Given the description of an element on the screen output the (x, y) to click on. 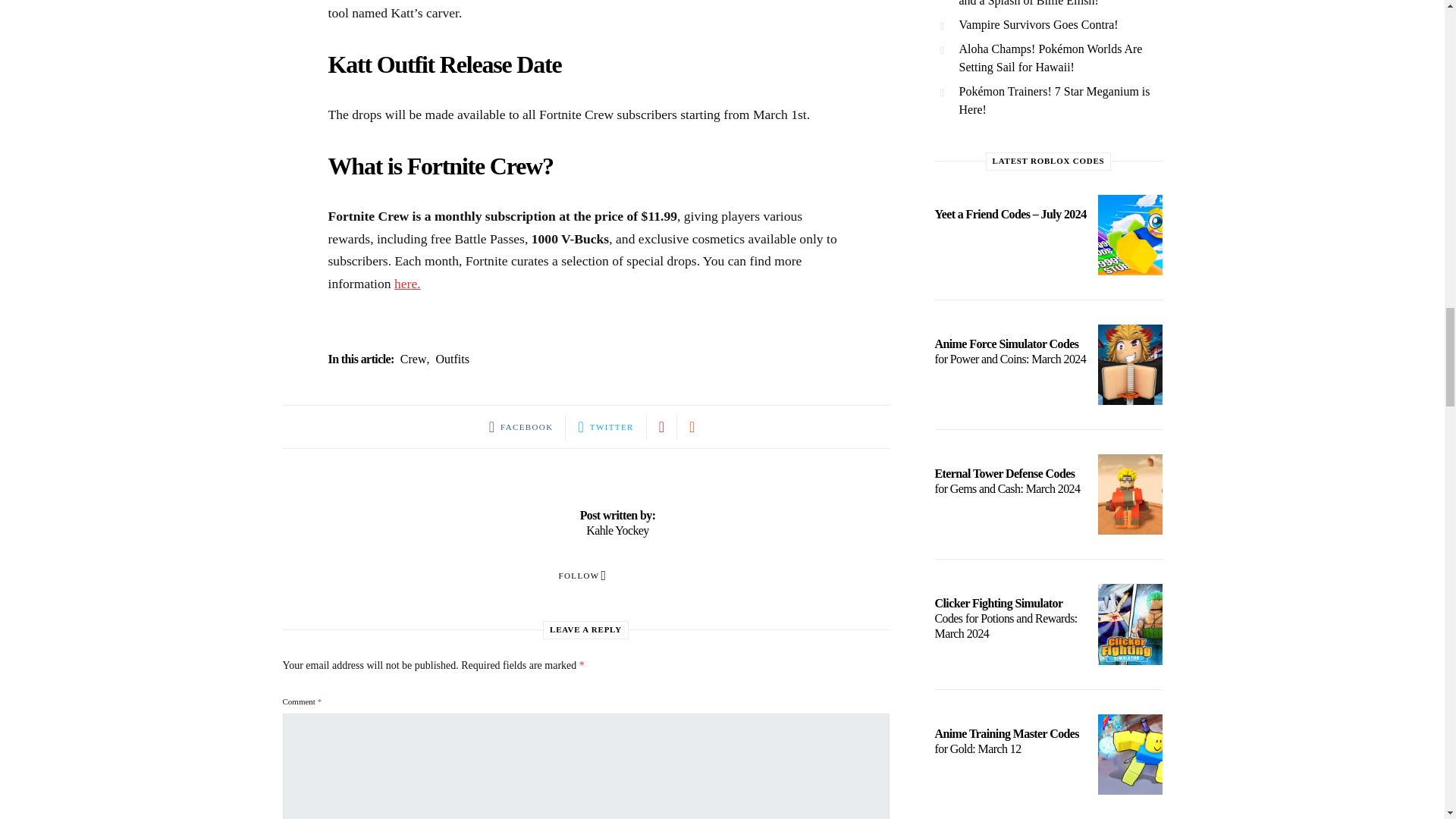
Outfits (451, 359)
Crew (413, 359)
FACEBOOK (521, 426)
here. (407, 283)
TWITTER (605, 426)
